Given the description of an element on the screen output the (x, y) to click on. 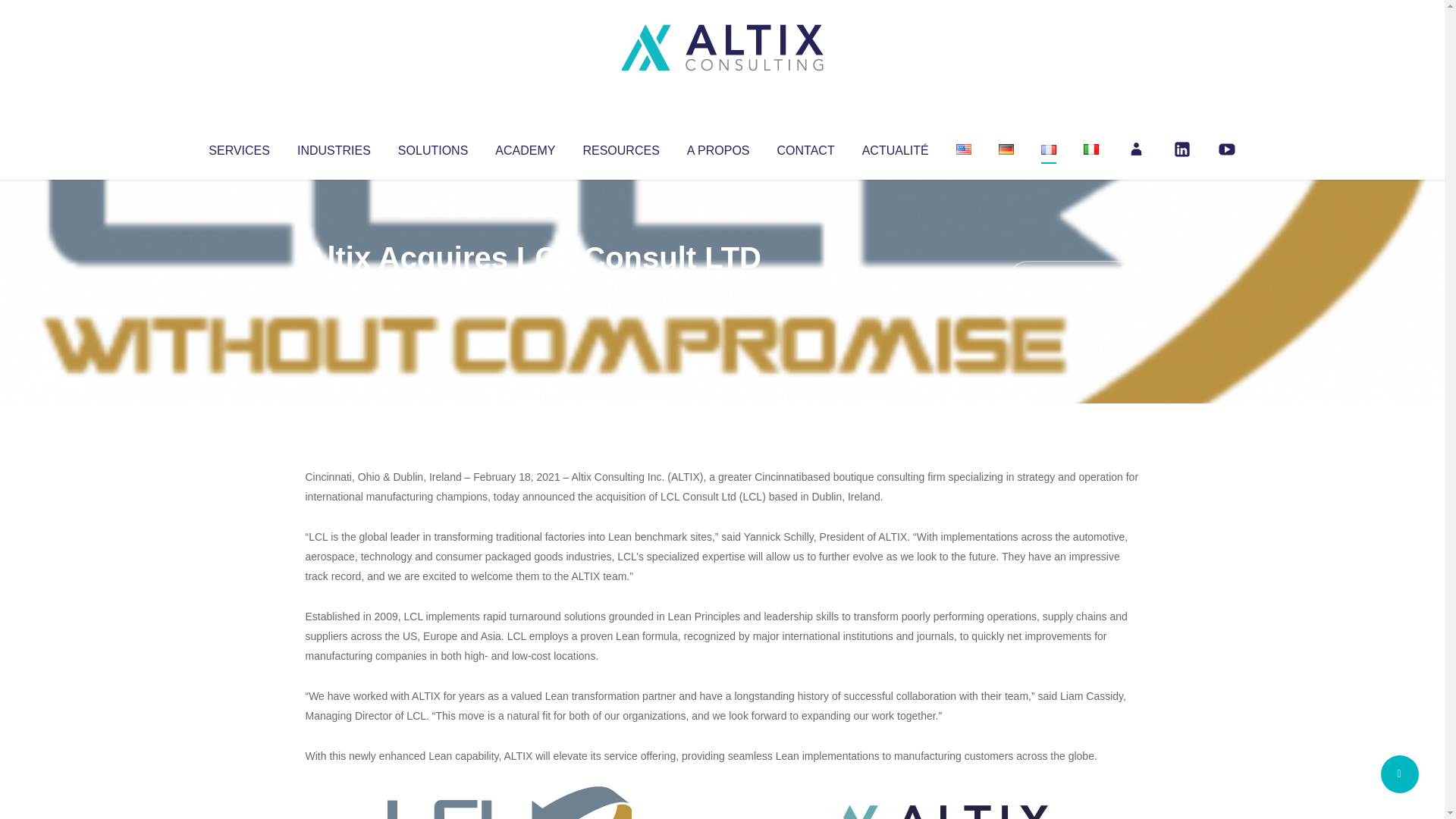
Altix (333, 287)
ACADEMY (524, 146)
No Comments (1073, 278)
A PROPOS (718, 146)
RESOURCES (620, 146)
INDUSTRIES (334, 146)
SERVICES (238, 146)
Uncategorized (530, 287)
SOLUTIONS (432, 146)
Articles par Altix (333, 287)
